Given the description of an element on the screen output the (x, y) to click on. 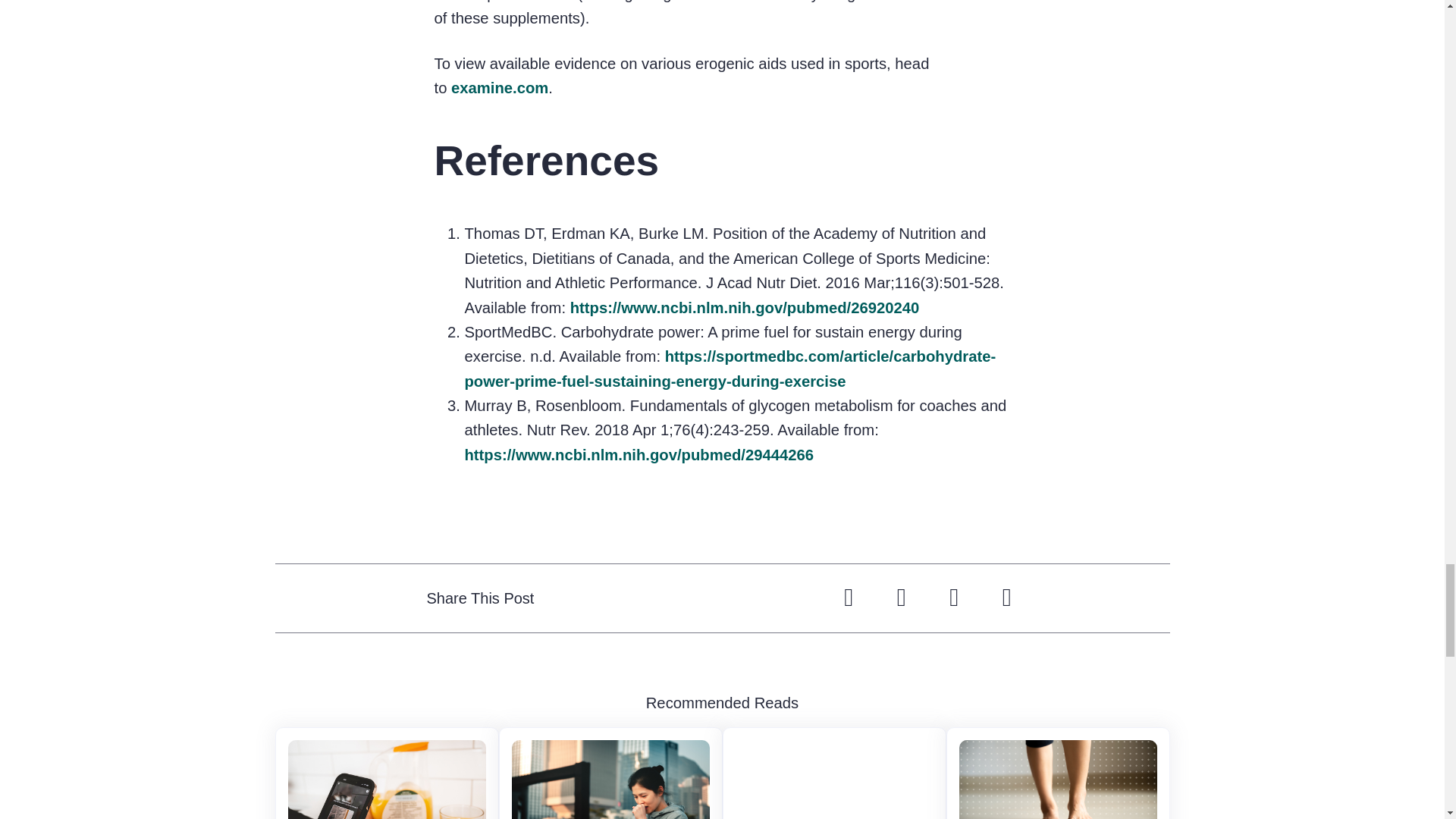
examine.com (499, 87)
